Given the description of an element on the screen output the (x, y) to click on. 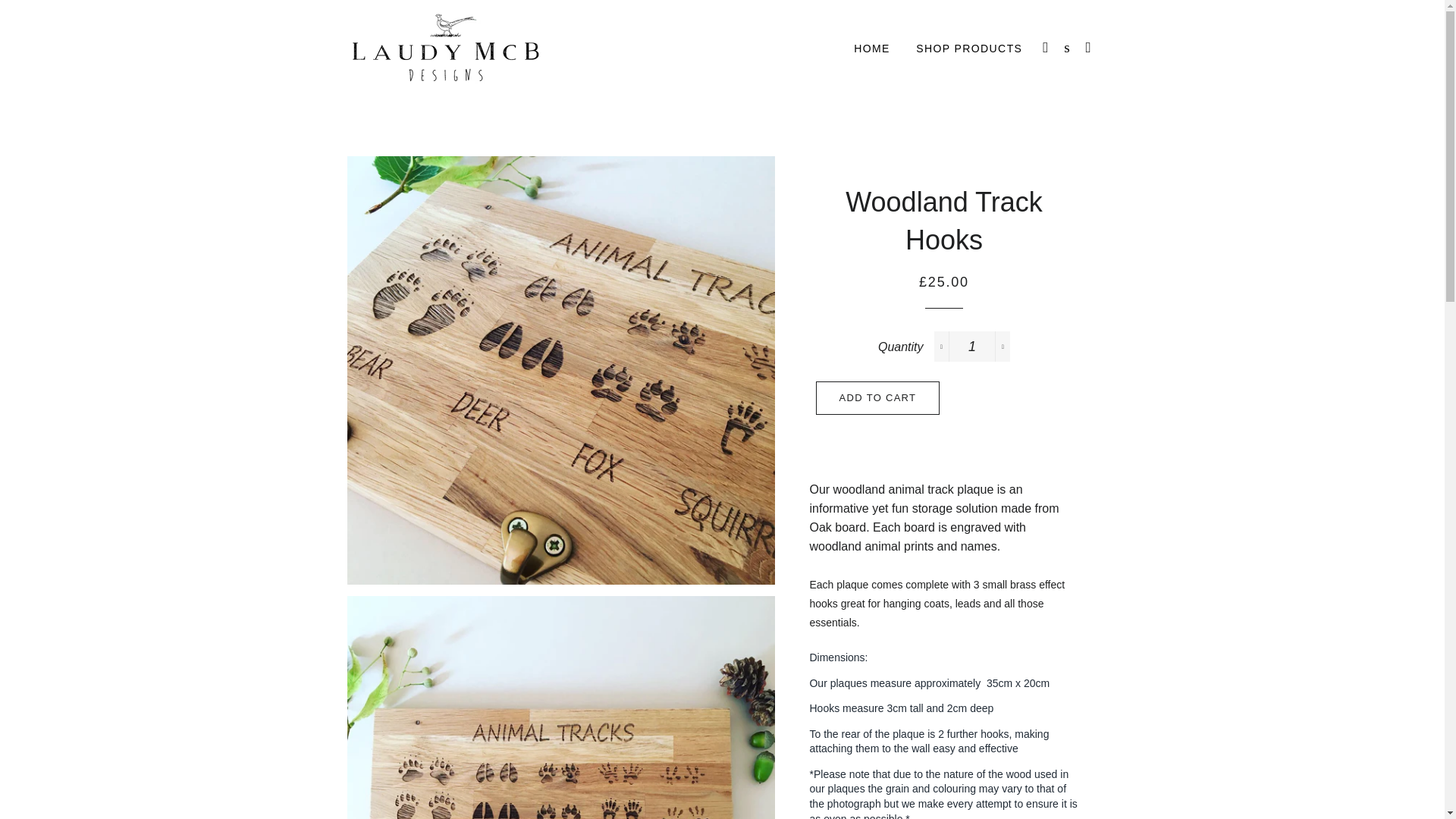
SHOP PRODUCTS (968, 48)
HOME (872, 48)
1 (972, 346)
ADD TO CART (877, 397)
